Given the description of an element on the screen output the (x, y) to click on. 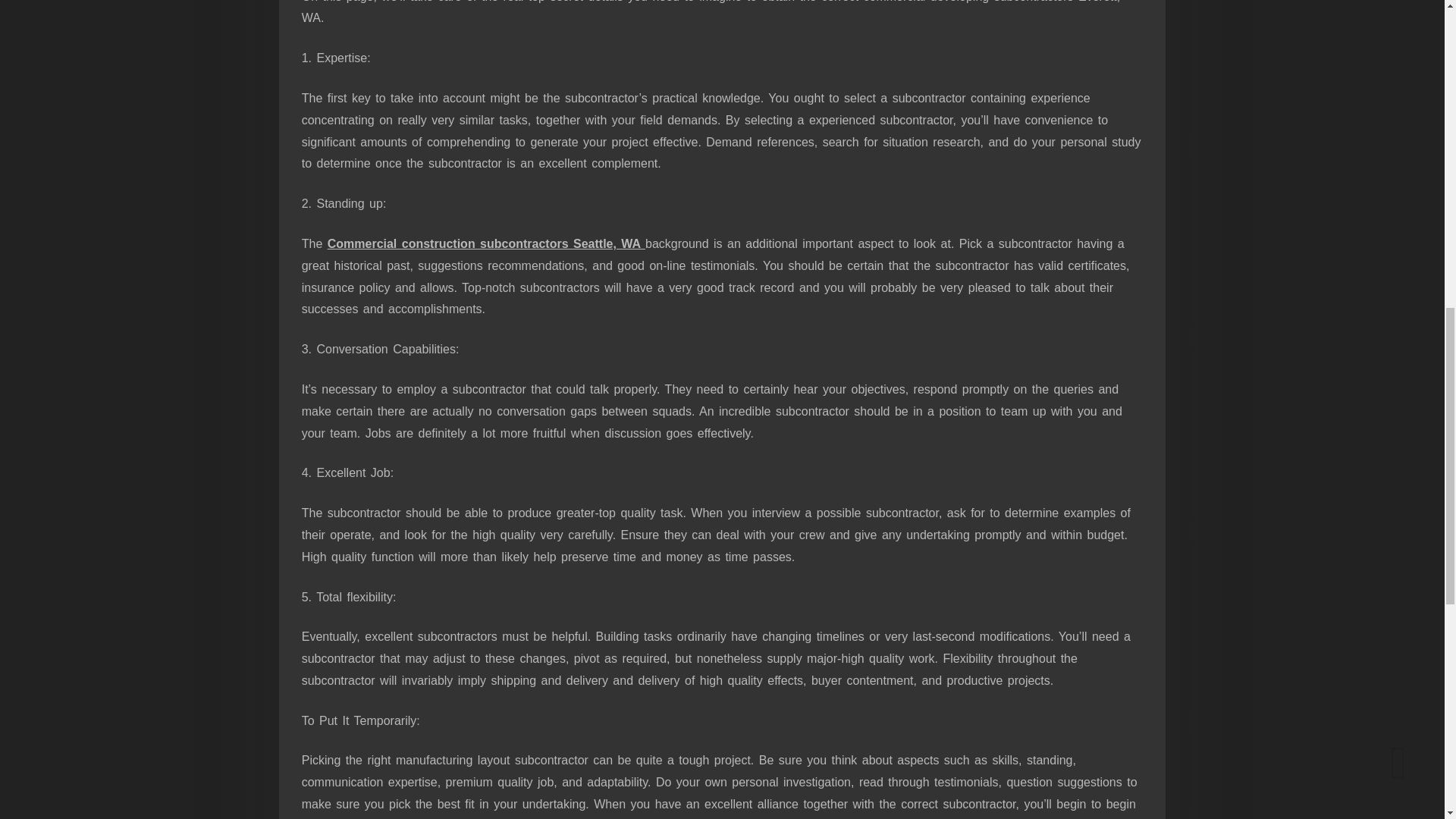
Commercial construction subcontractors Seattle, WA (486, 243)
